Given the description of an element on the screen output the (x, y) to click on. 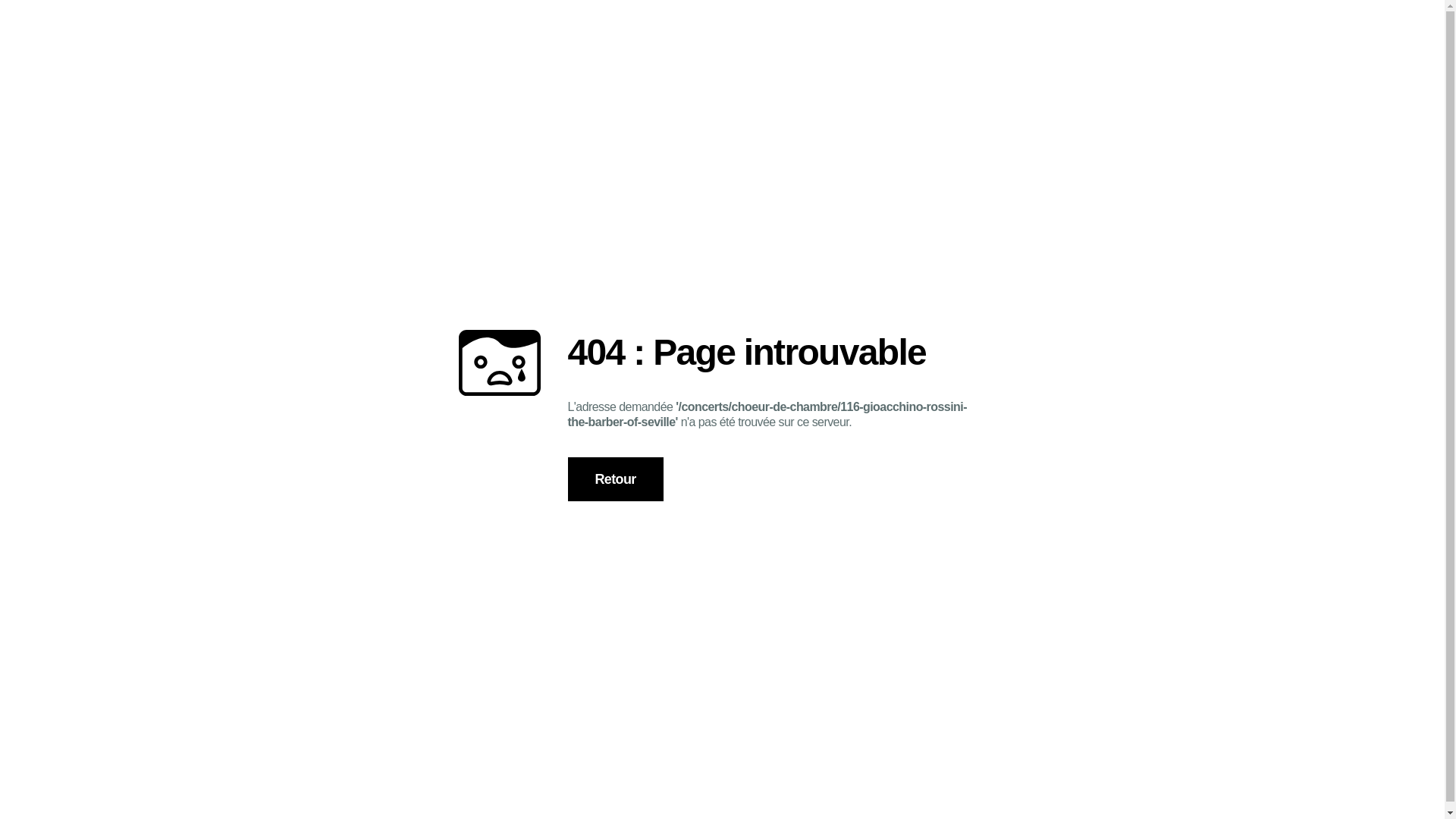
Retour Element type: text (614, 479)
